Given the description of an element on the screen output the (x, y) to click on. 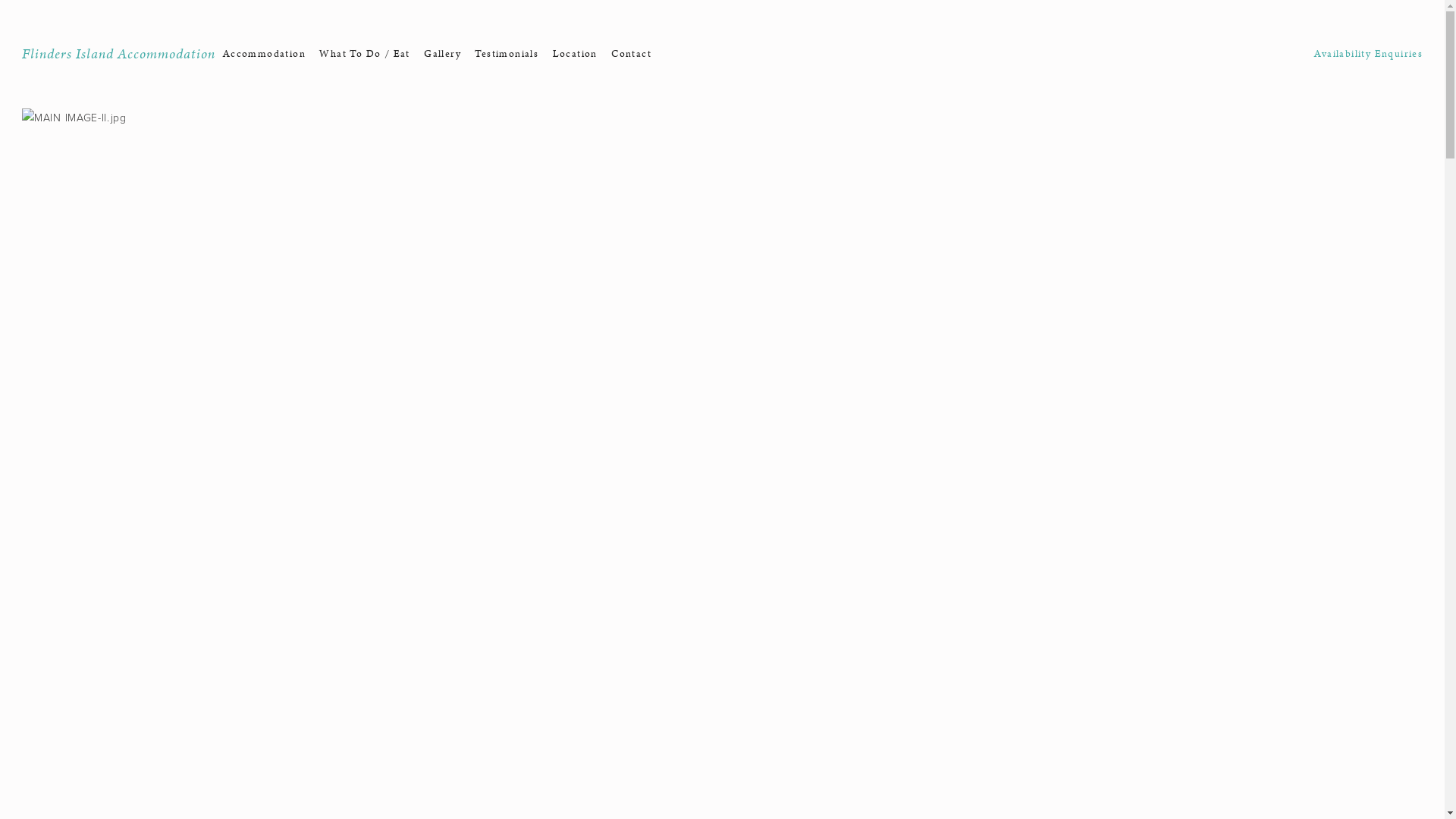
Location Element type: text (574, 54)
Contact Element type: text (631, 54)
Availability Enquiries Element type: text (1368, 54)
Testimonials Element type: text (506, 54)
Flinders Island Accommodation Element type: text (118, 53)
What To Do / Eat Element type: text (364, 54)
Gallery Element type: text (442, 54)
Accommodation Element type: text (263, 54)
